Given the description of an element on the screen output the (x, y) to click on. 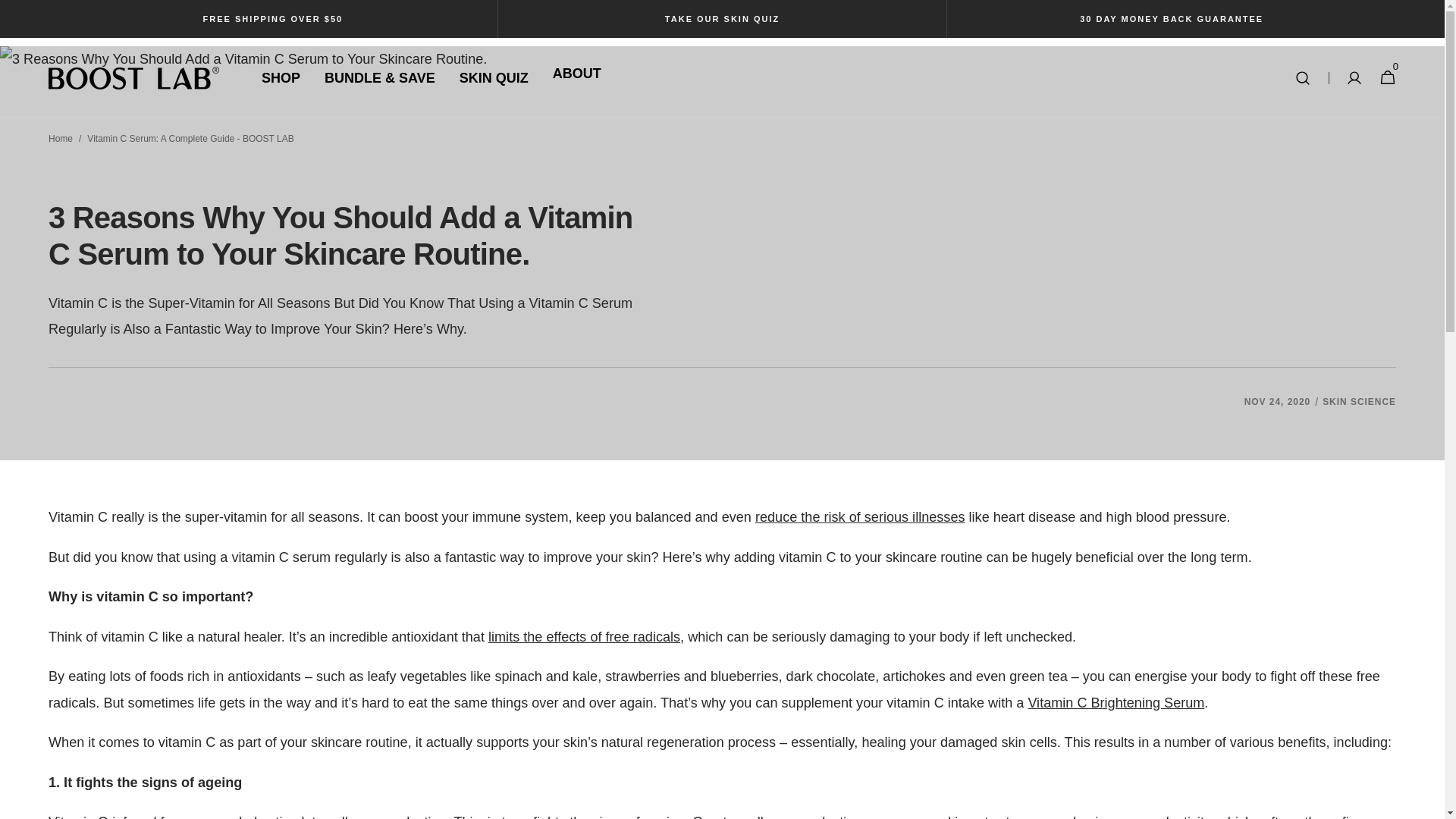
30 DAY MONEY BACK GUARANTEE (1171, 18)
Shop (280, 77)
Skin Quiz (494, 77)
SKIP TO CONTENT (42, 20)
Skin Science (1359, 401)
Home (60, 139)
About (577, 73)
TAKE OUR SKIN QUIZ (721, 18)
